Given the description of an element on the screen output the (x, y) to click on. 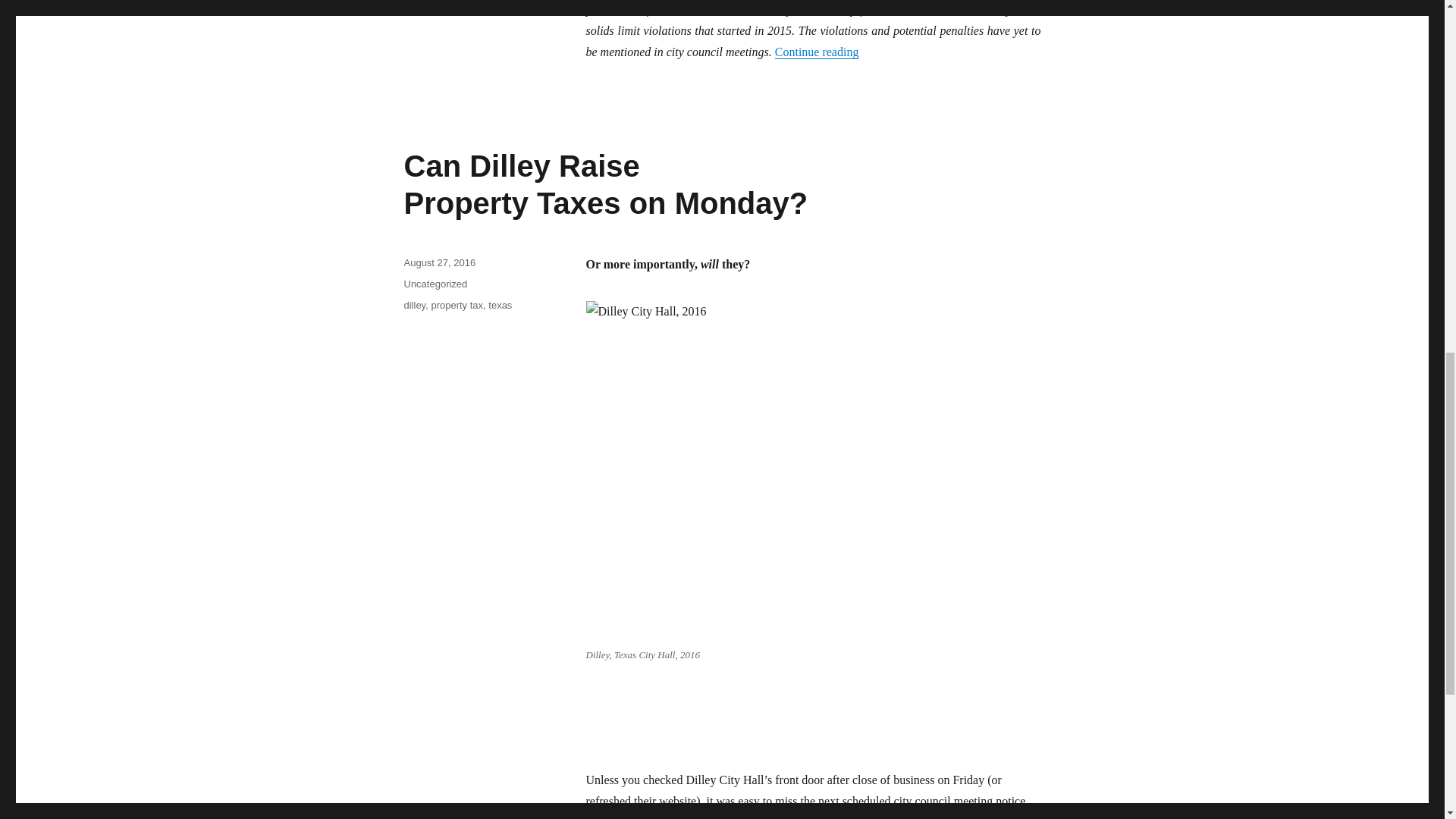
texas (499, 305)
dilley (414, 305)
Uncategorized (435, 283)
August 27, 2016 (439, 262)
property tax (605, 184)
